Given the description of an element on the screen output the (x, y) to click on. 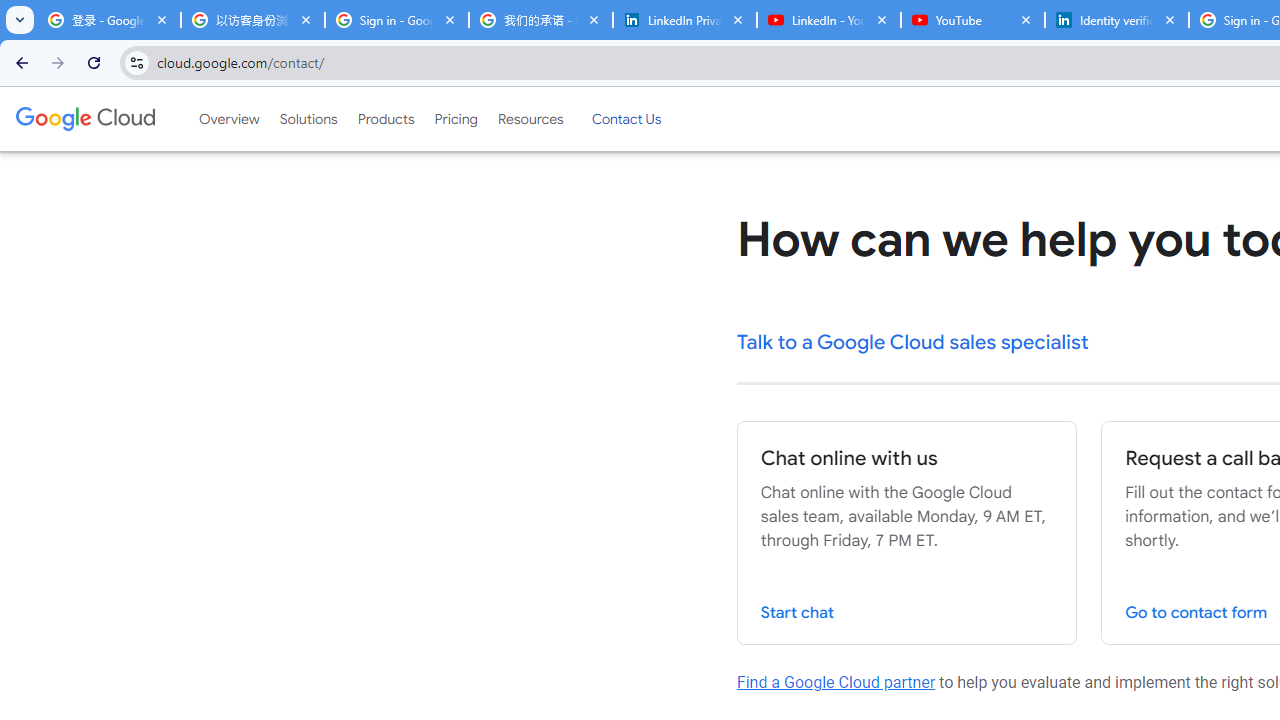
Contact Us (626, 119)
Find a Google Cloud partner (835, 682)
Products (385, 119)
